Given the description of an element on the screen output the (x, y) to click on. 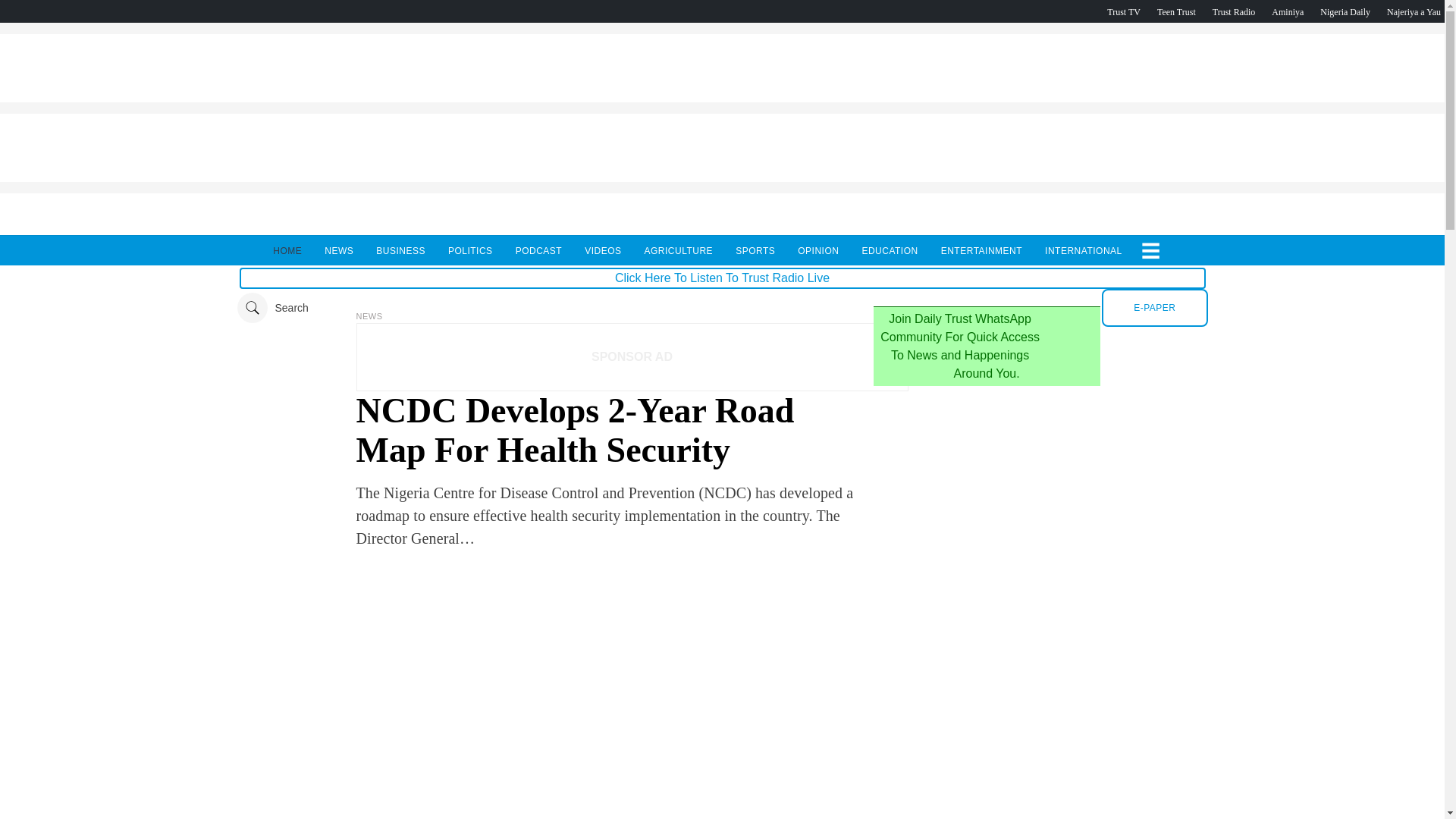
Aminiya Online (1287, 11)
E-PAPER (1154, 307)
Trust Radio (1233, 11)
Trust TV (1123, 11)
Search (271, 307)
Search (271, 307)
Dailytrust (722, 307)
E-Paper Subscription (1154, 307)
Aminiya (1287, 11)
Najeriya a Yau (1414, 11)
Teen Trust (1176, 11)
News (369, 316)
Trust Radio Live (1233, 11)
Podcast (1345, 11)
Nigeria Daily (1345, 11)
